Given the description of an element on the screen output the (x, y) to click on. 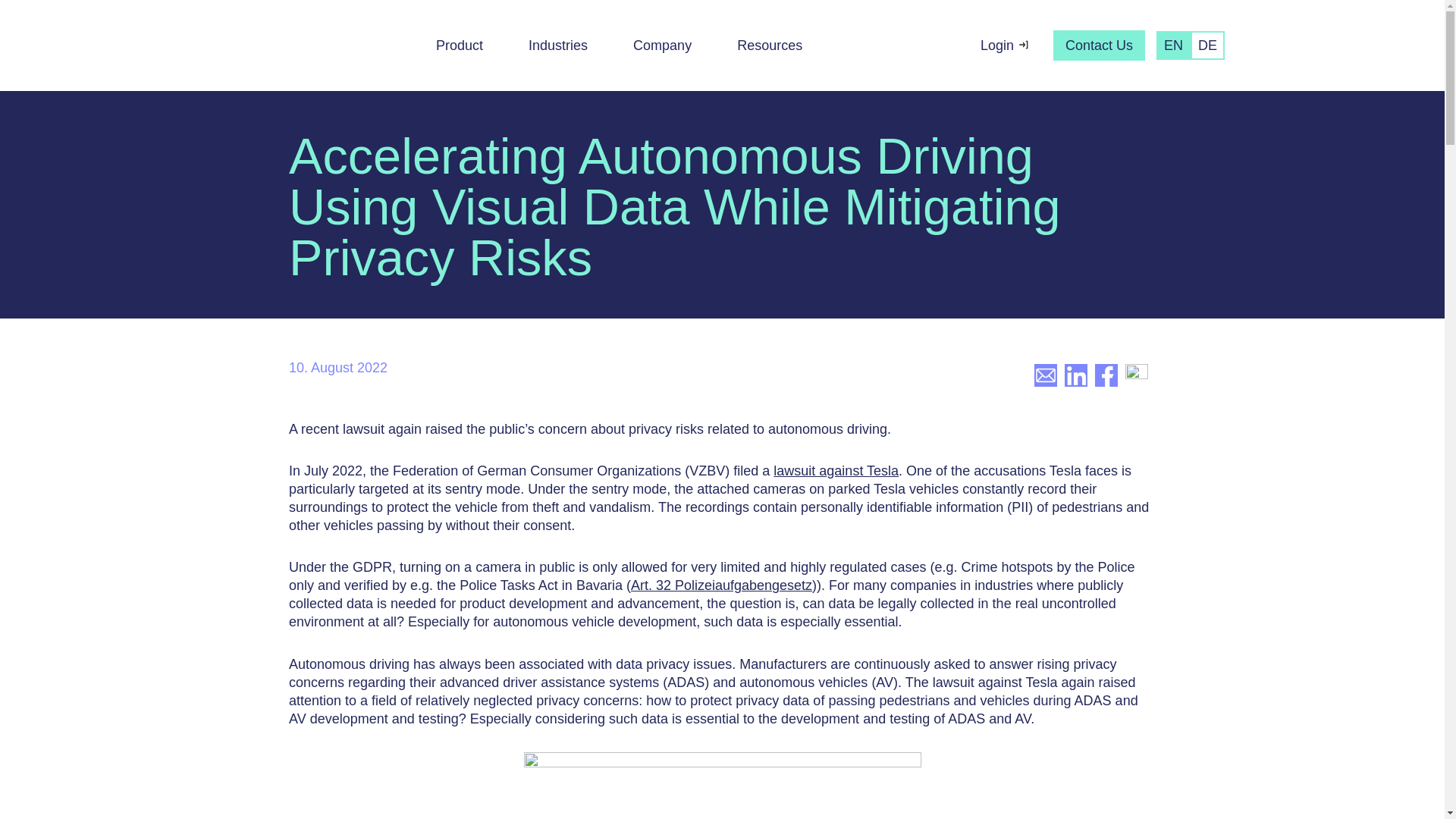
EN (1173, 45)
Login (1005, 45)
lawsuit against Tesla (835, 470)
Switch to English (1173, 45)
Product (460, 45)
Switch to Deutsch (1207, 45)
Contact Us (1099, 45)
Resources (769, 45)
Art. 32 Polizeiaufgabengesetz (721, 585)
Company (662, 45)
